Given the description of an element on the screen output the (x, y) to click on. 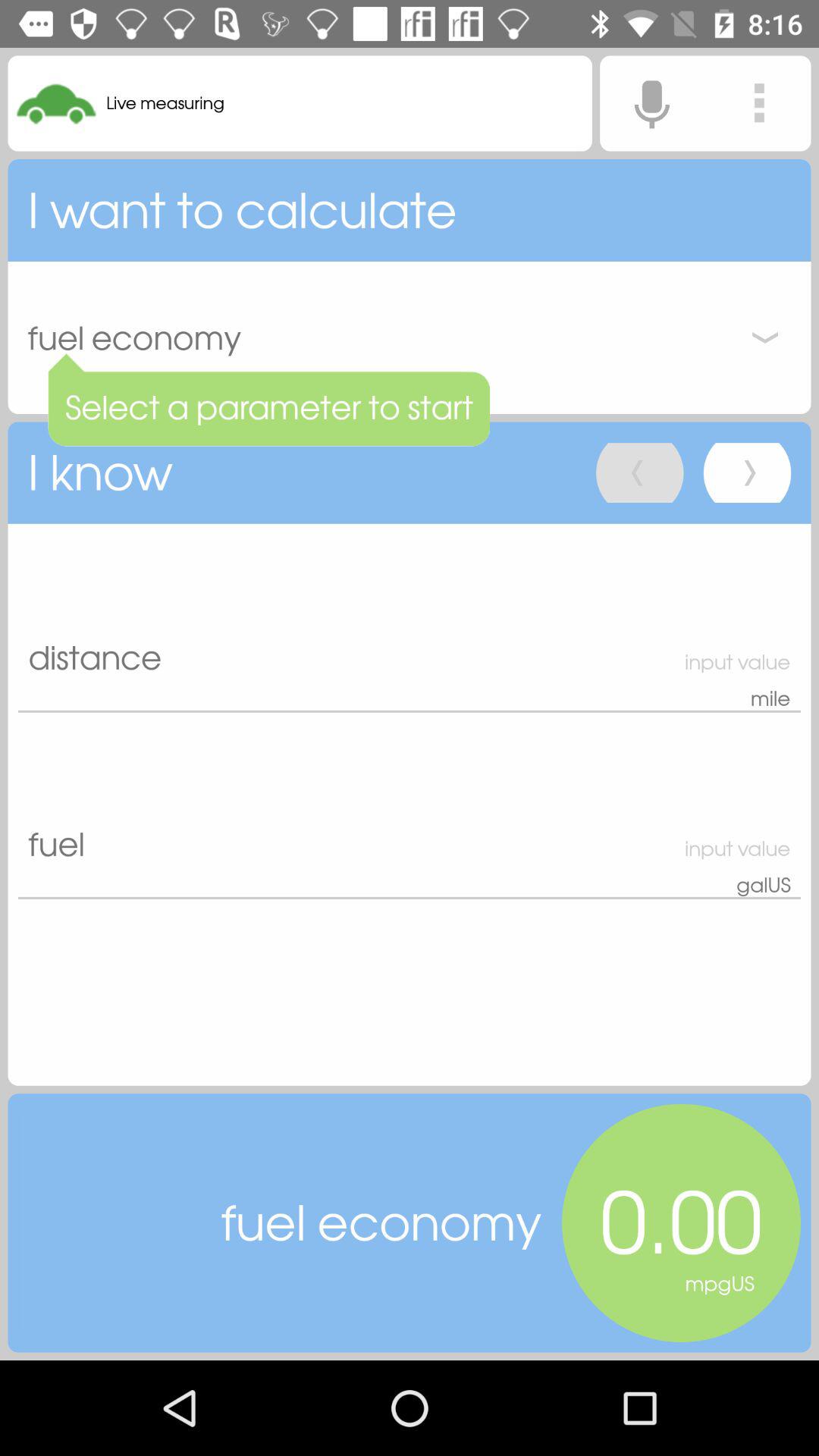
go forward (747, 472)
